Given the description of an element on the screen output the (x, y) to click on. 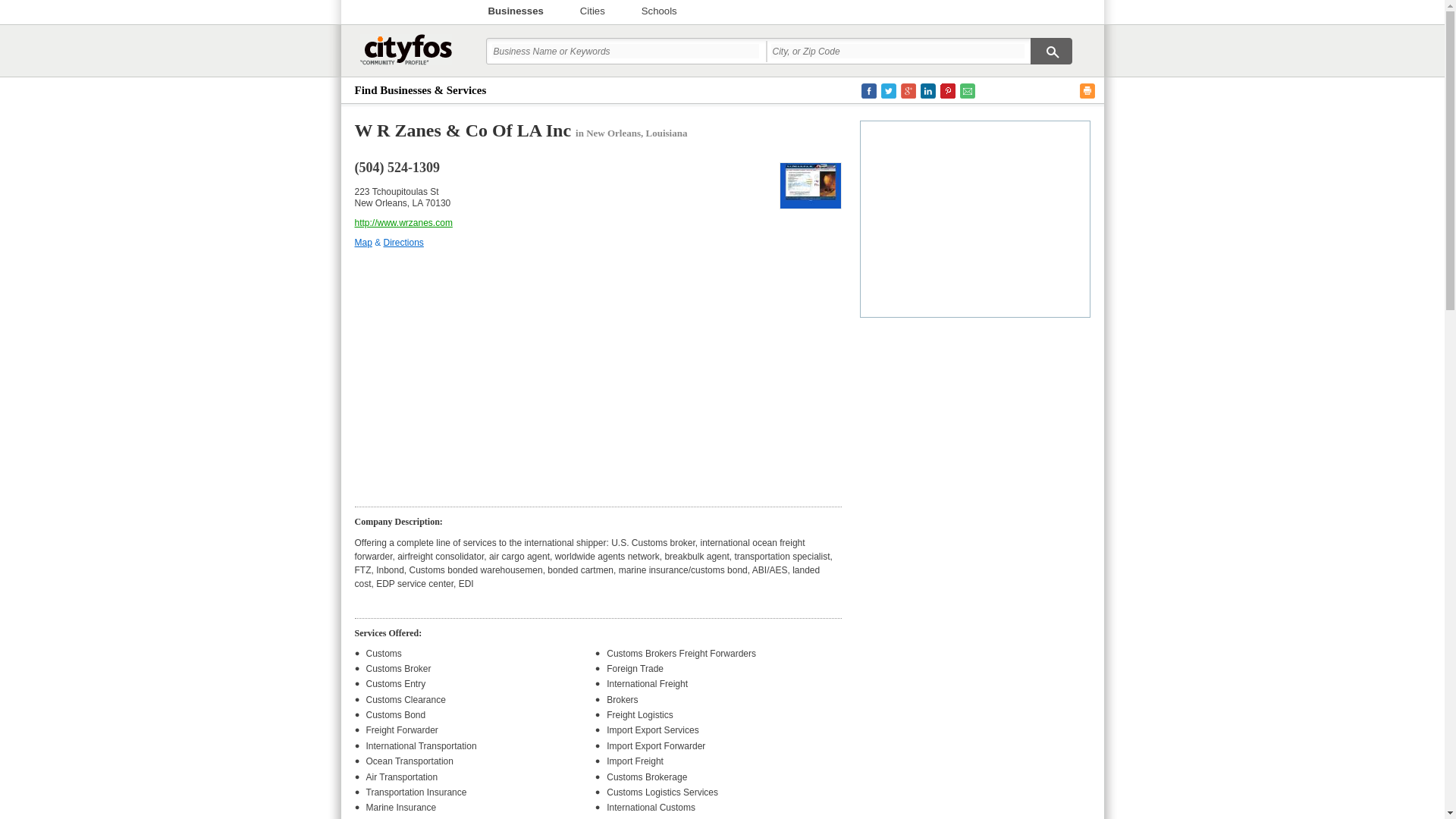
Share with Pinterest (947, 90)
Businesses (516, 11)
Directions (403, 242)
Schools (659, 11)
Cities (592, 11)
Map (363, 242)
E-mail a friend (967, 90)
Search (1050, 50)
Print this page (1087, 90)
Share with LinkedIn (928, 90)
